Given the description of an element on the screen output the (x, y) to click on. 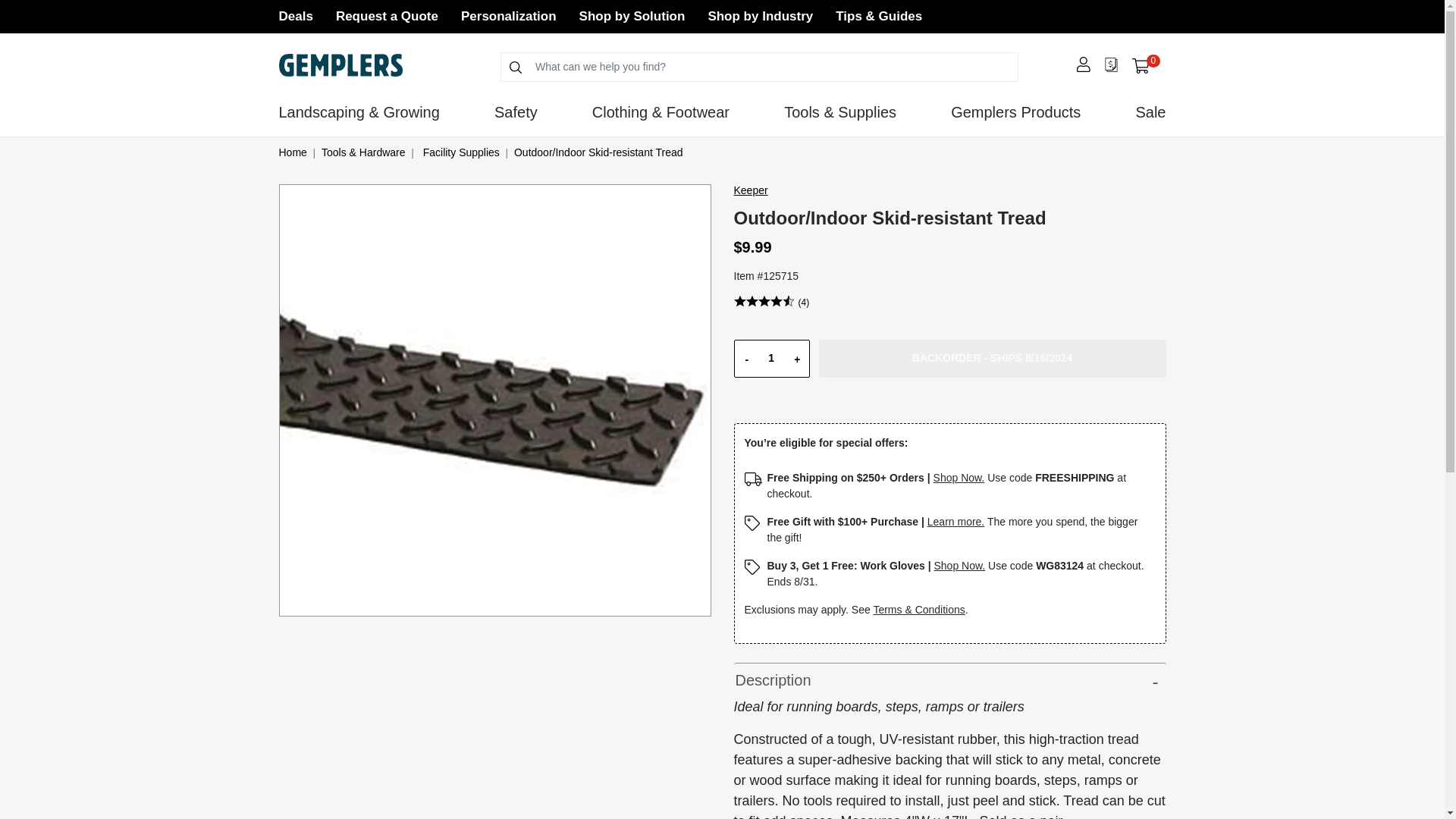
Request a Quote (1145, 65)
Shopping Cart (387, 16)
Deals (1141, 66)
1 (296, 16)
Shop by Industry (770, 357)
Personalization (759, 16)
Shop by Solution (508, 16)
